Given the description of an element on the screen output the (x, y) to click on. 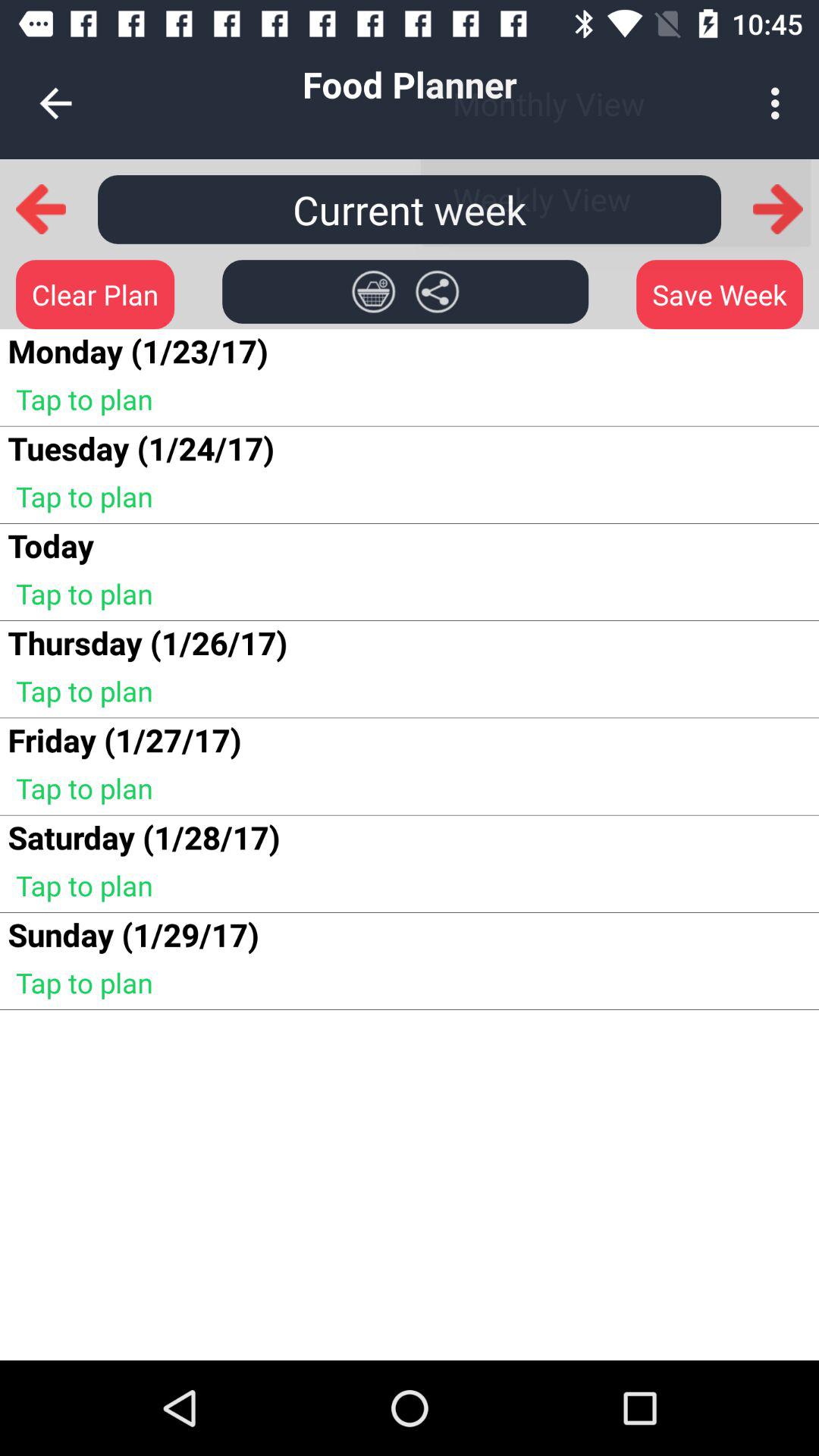
launch icon to the left of food planner icon (55, 103)
